Given the description of an element on the screen output the (x, y) to click on. 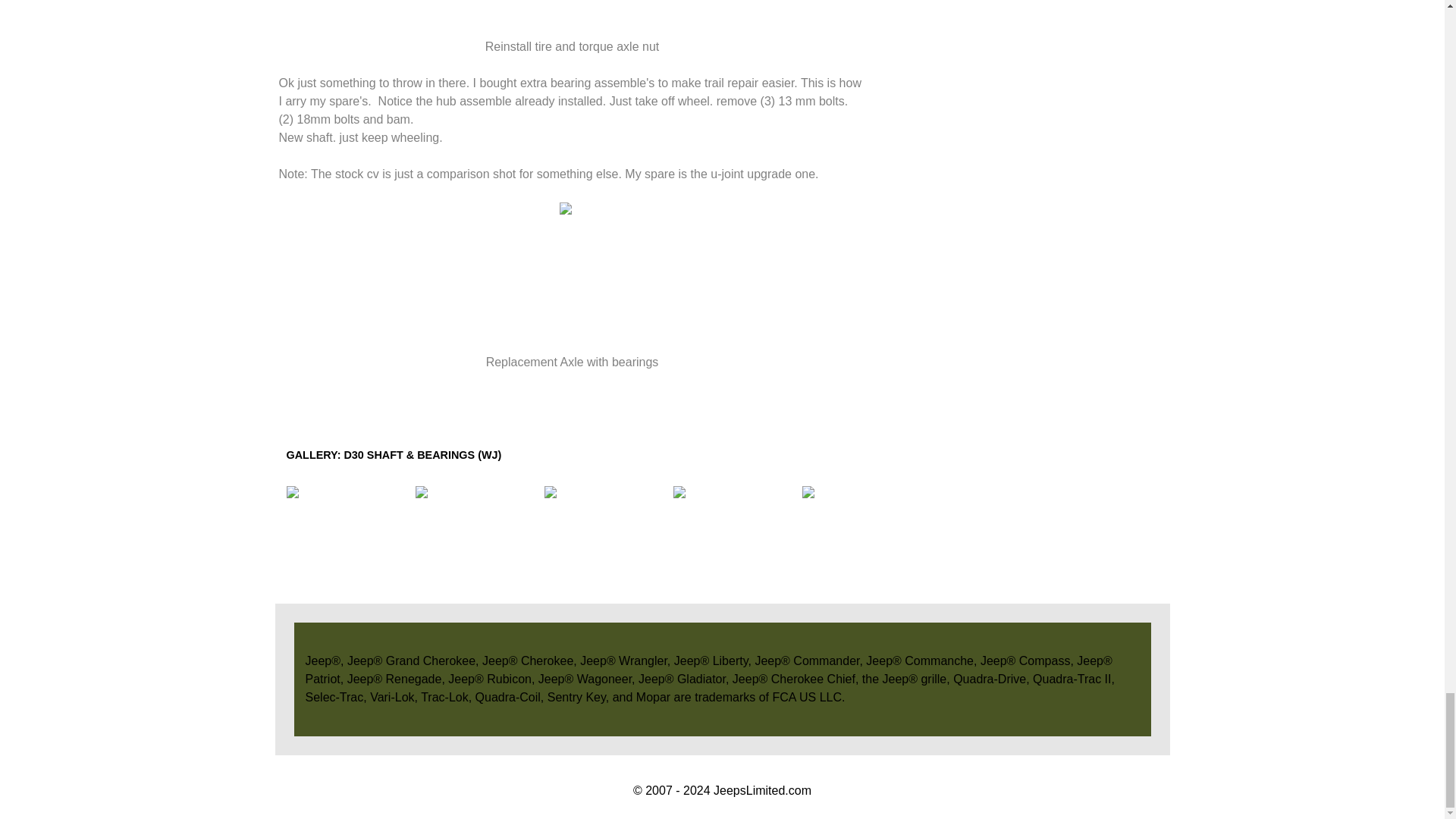
0 (1124, 531)
0 (1253, 531)
0 (995, 531)
0 (866, 531)
0 (608, 531)
0 (479, 531)
0 (350, 531)
0 (737, 531)
